Given the description of an element on the screen output the (x, y) to click on. 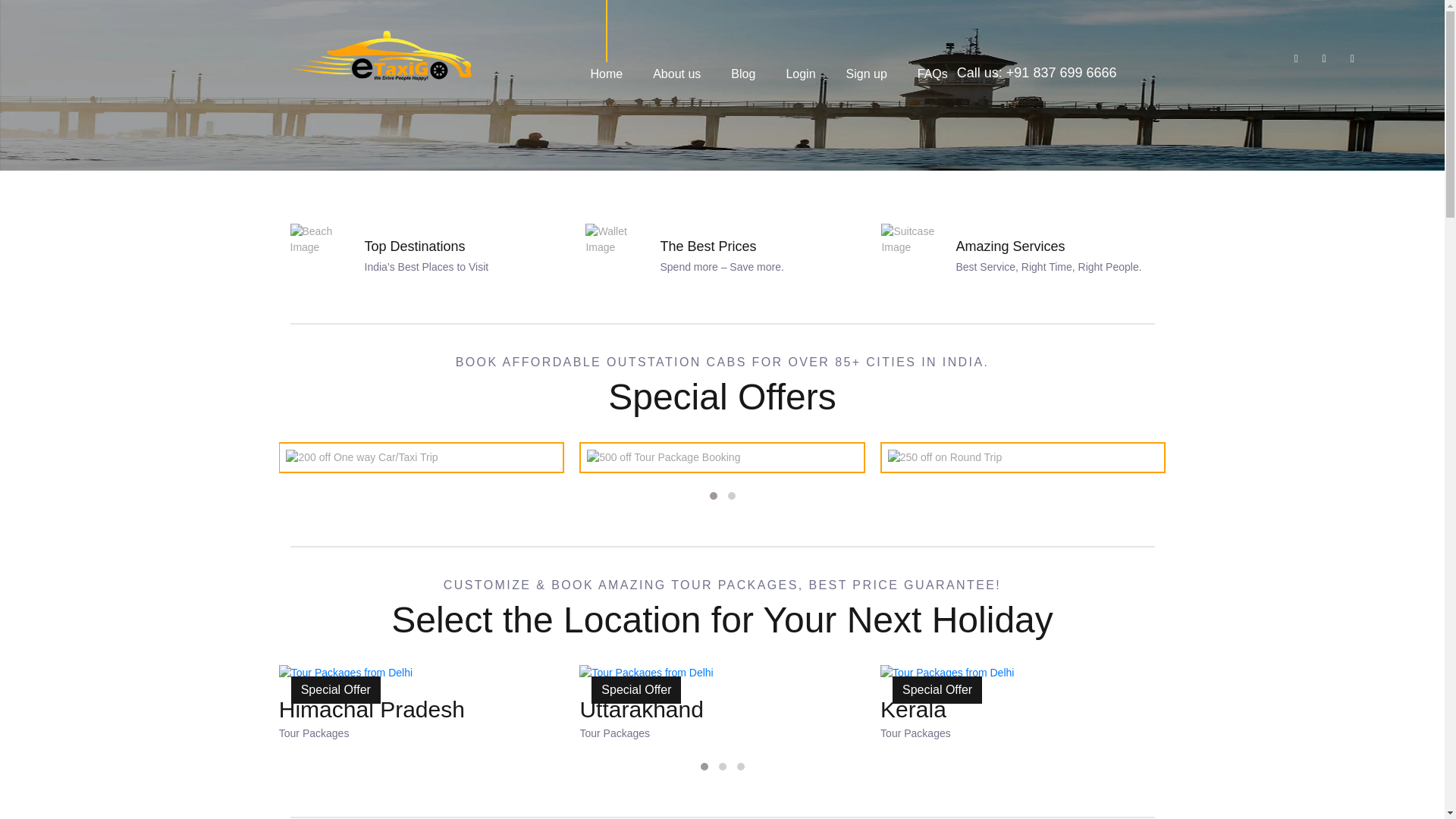
About us (676, 73)
Home (606, 73)
FAQs (932, 73)
Blog (742, 73)
Andaman And Nicobar (54, 9)
Sign up (865, 73)
Login (800, 73)
Goa (11, 9)
Jammu and Kashmir (50, 9)
